Given the description of an element on the screen output the (x, y) to click on. 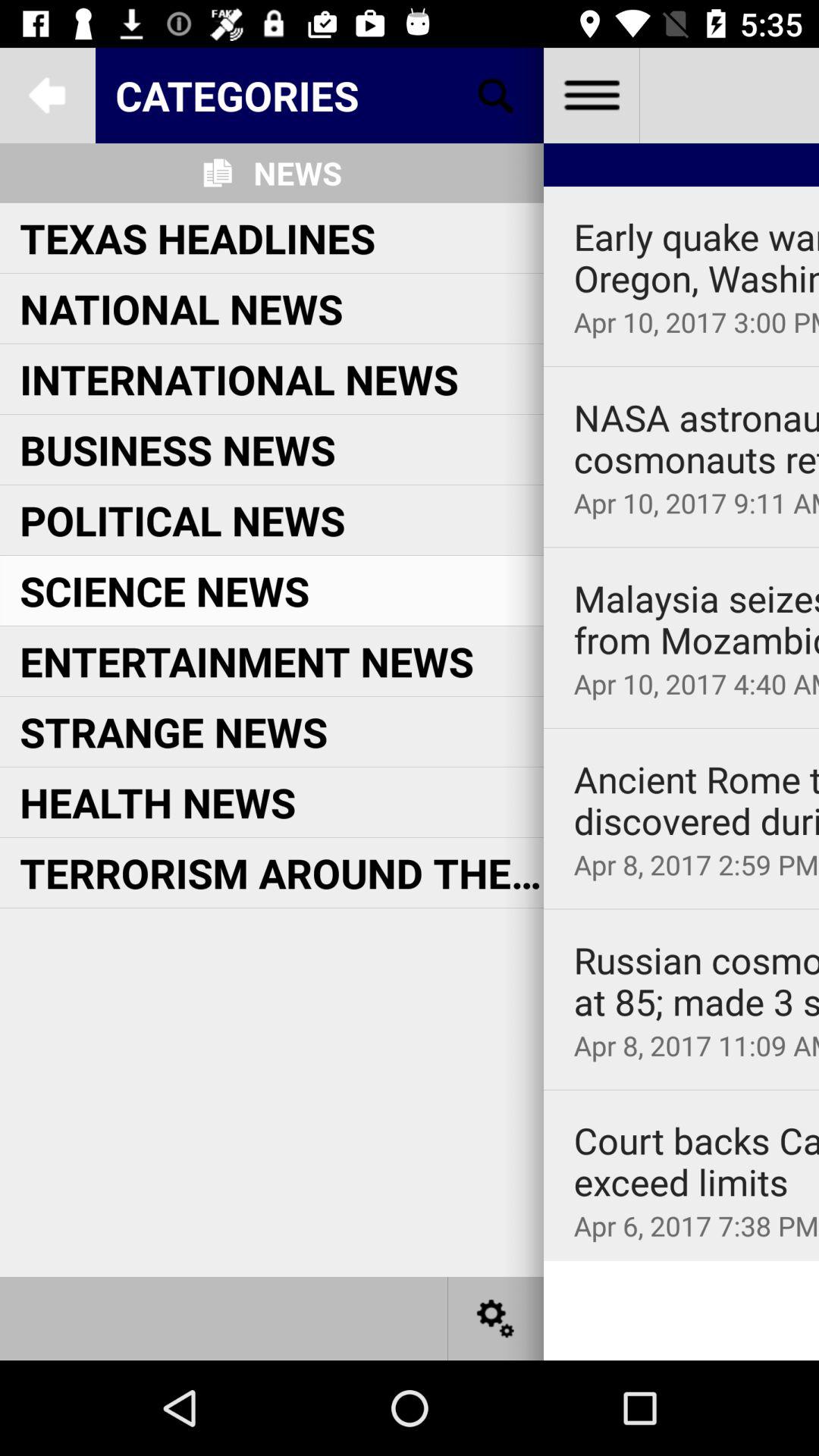
choose from menu (591, 95)
